Given the description of an element on the screen output the (x, y) to click on. 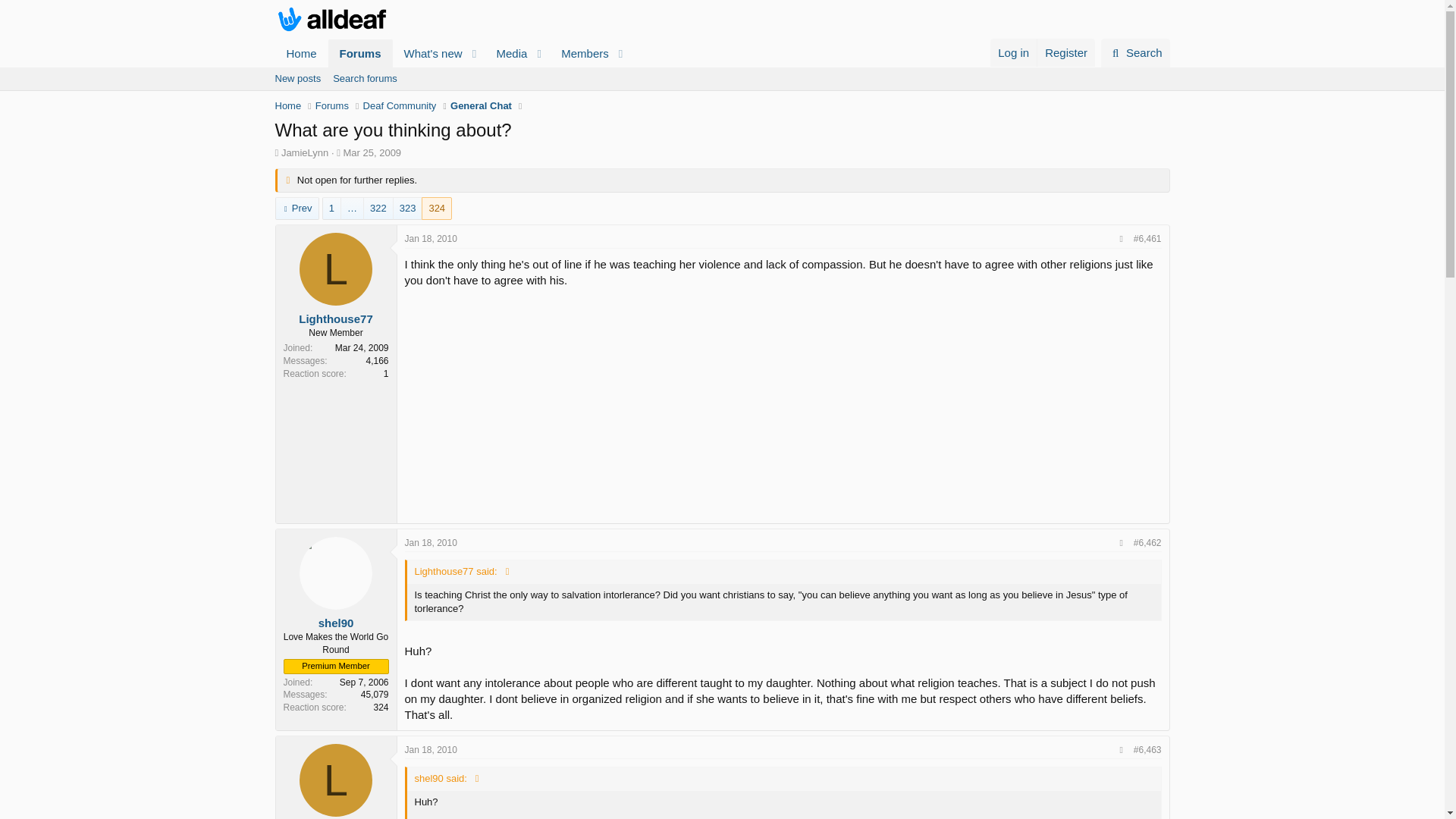
Register (720, 95)
New posts (1065, 52)
Search (296, 78)
Forums (1135, 52)
Media (361, 53)
Jan 18, 2010 at 12:13 PM (452, 70)
Deaf Community (452, 53)
